Given the description of an element on the screen output the (x, y) to click on. 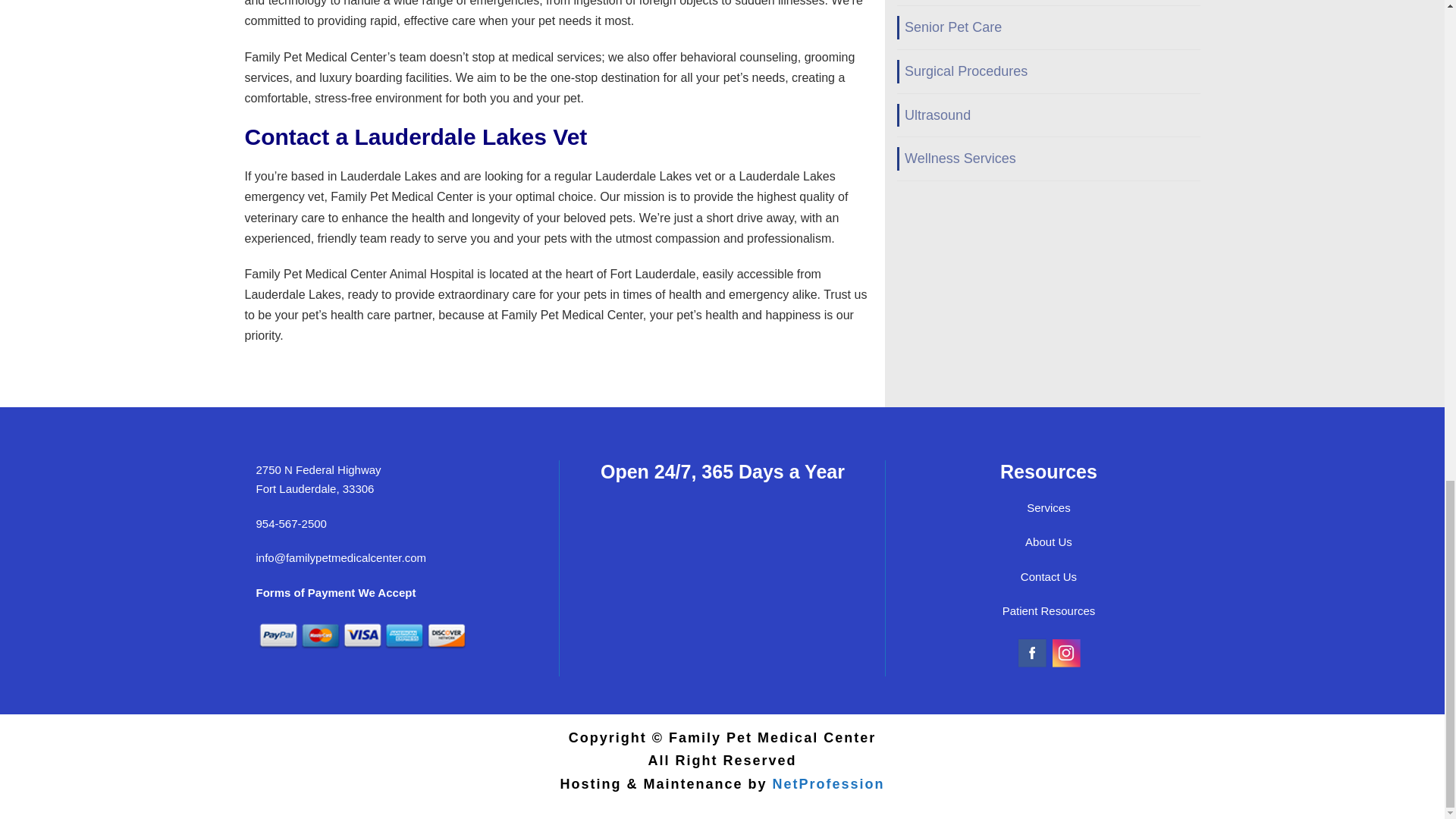
Visit Us On Instagram (1065, 651)
Visit Us On Facebook (1031, 651)
